Given the description of an element on the screen output the (x, y) to click on. 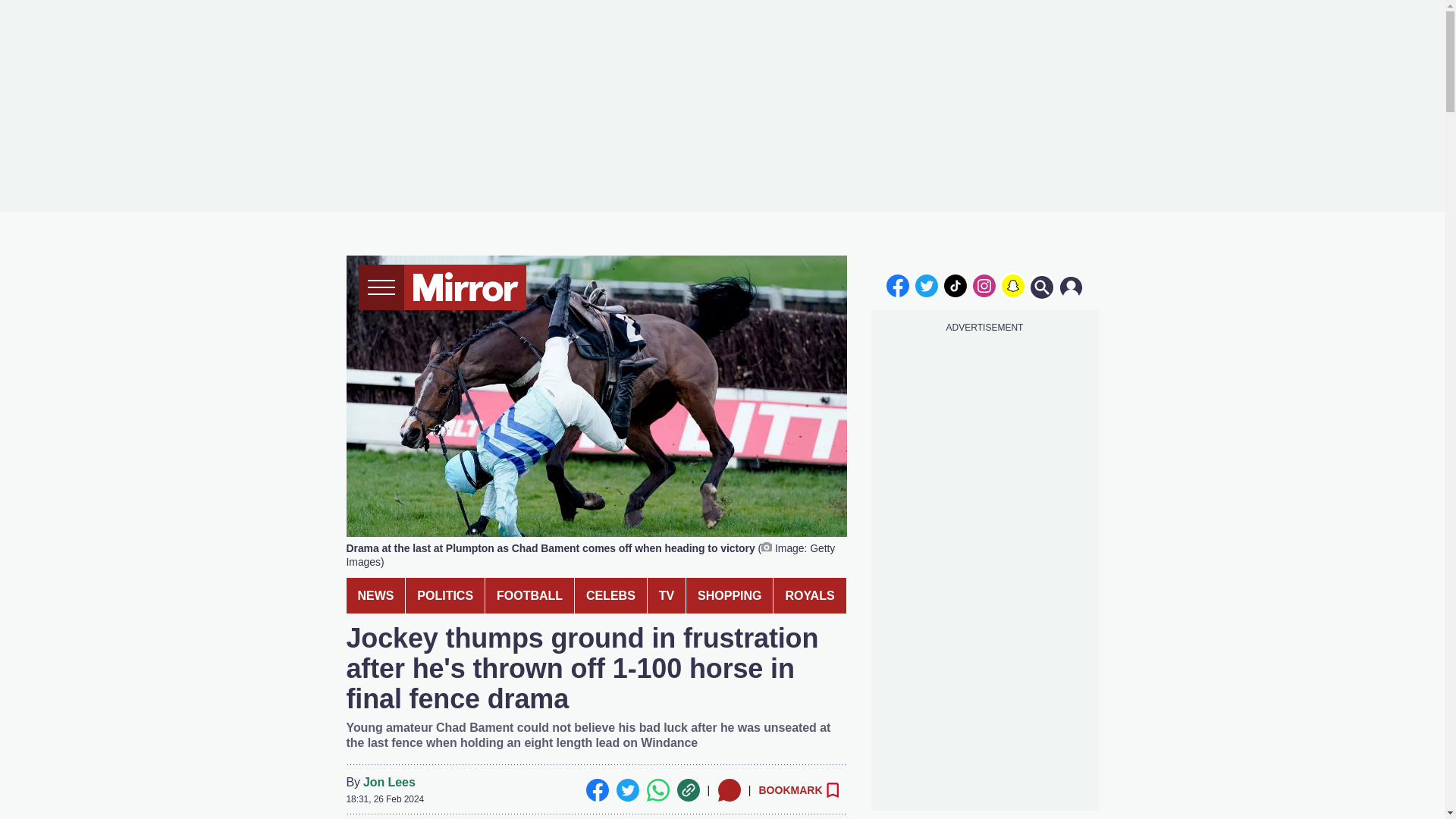
POLITICS (445, 595)
instagram (984, 285)
tiktok (955, 285)
twitter (926, 285)
Twitter (627, 789)
Facebook (596, 789)
snapchat (1012, 285)
NEWS (375, 595)
FOOTBALL (528, 595)
CELEBS (610, 595)
